Given the description of an element on the screen output the (x, y) to click on. 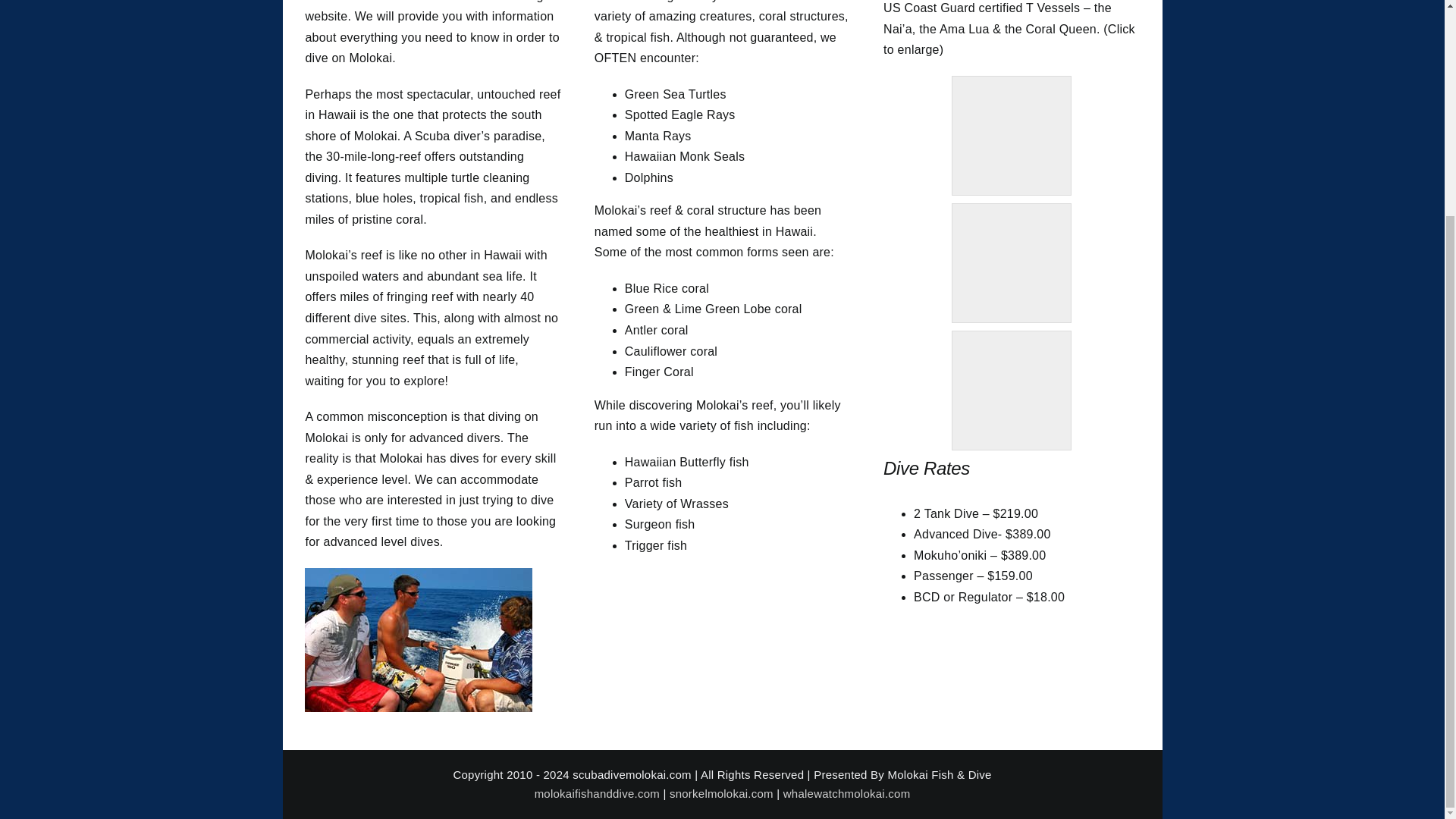
snorkelmolokai.com (721, 793)
whalewatchmolokai.com (847, 793)
molokaifishanddive.com (596, 793)
